Given the description of an element on the screen output the (x, y) to click on. 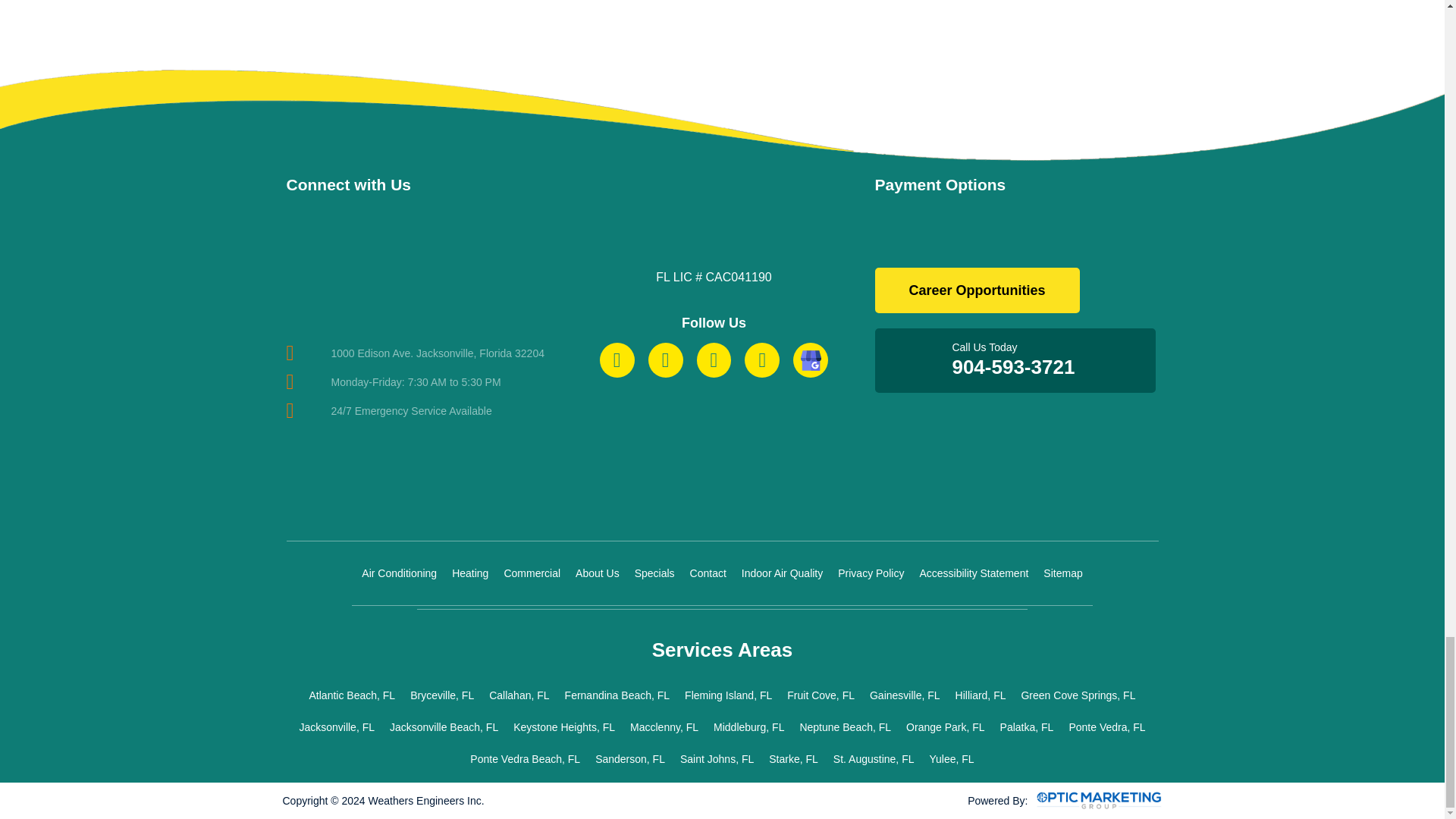
Google Map (419, 264)
